Given the description of an element on the screen output the (x, y) to click on. 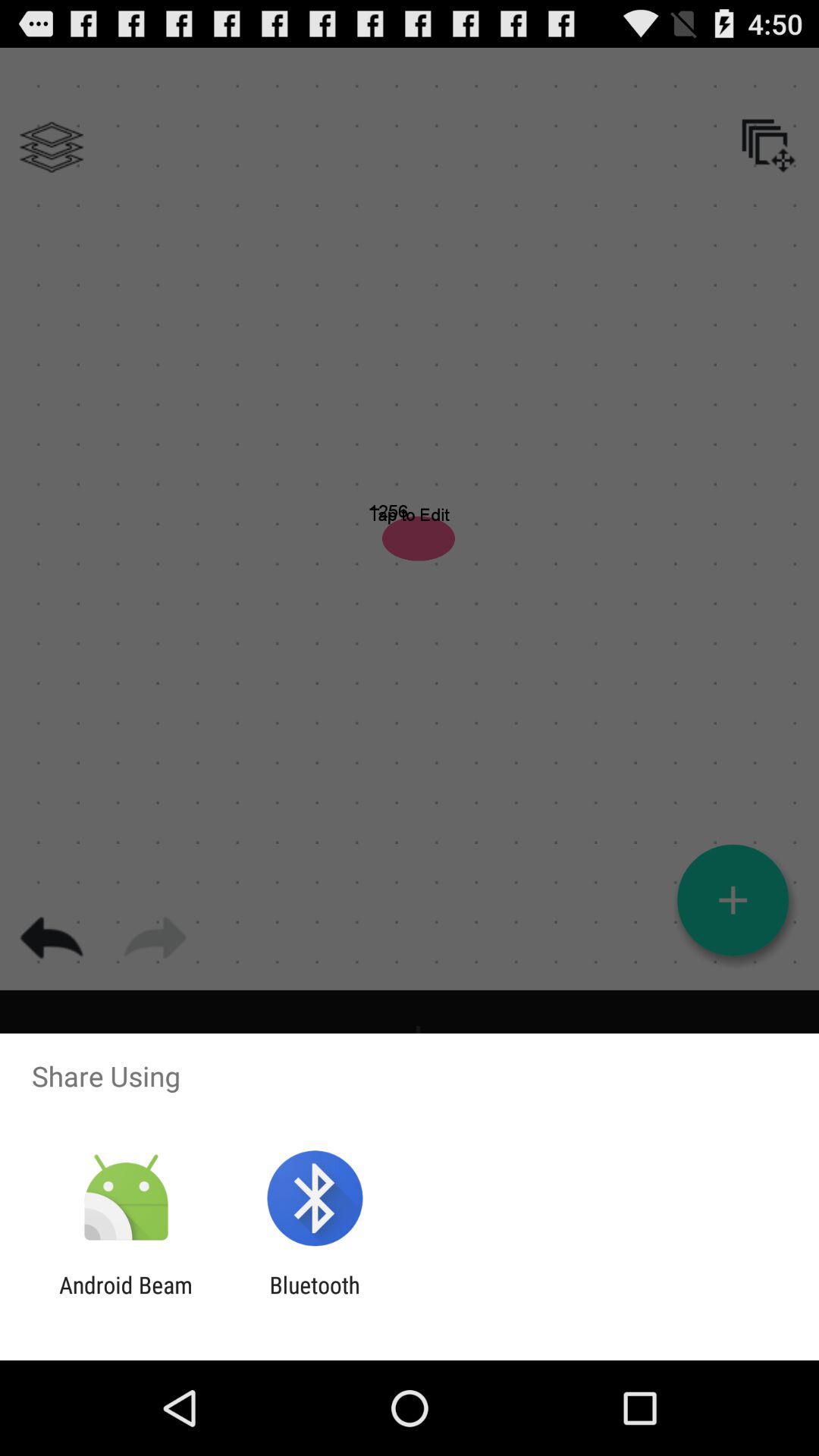
tap the item next to the bluetooth icon (125, 1298)
